Given the description of an element on the screen output the (x, y) to click on. 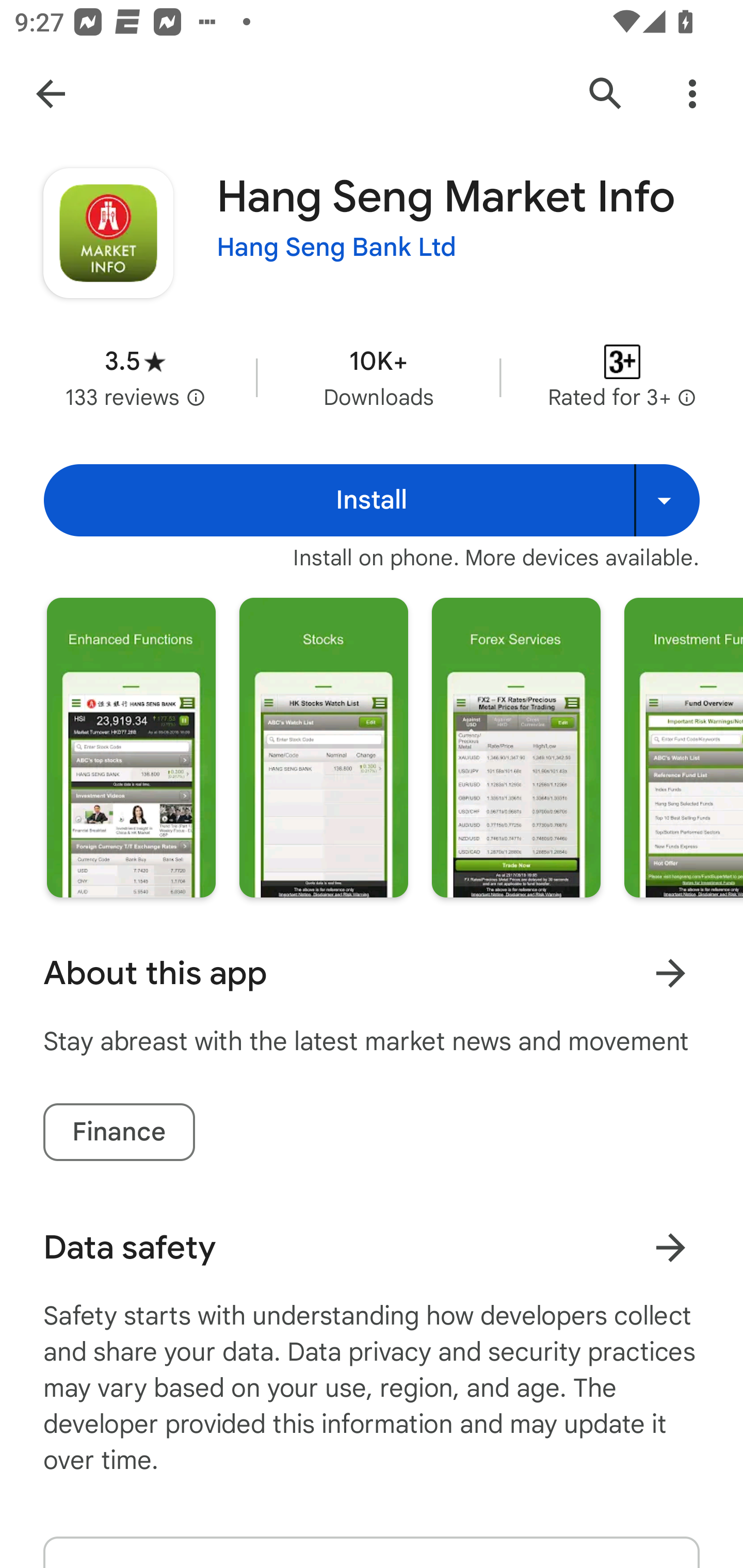
Navigate up (50, 93)
Search Google Play (605, 93)
More Options (692, 93)
Hang Seng Bank Ltd (336, 247)
Average rating 3.5 stars in 133 reviews (135, 377)
Content rating Rated for 3+ (622, 377)
Install Install Install on more devices (371, 500)
Install on more devices (667, 500)
Screenshot "1" of "4" (130, 746)
Screenshot "2" of "4" (323, 746)
Screenshot "3" of "4" (515, 746)
Screenshot "4" of "4" (683, 746)
About this app Learn more About this app (371, 972)
Learn more About this app (670, 972)
Finance tag (118, 1132)
Data safety Learn more about data safety (371, 1247)
Learn more about data safety (670, 1247)
